Given the description of an element on the screen output the (x, y) to click on. 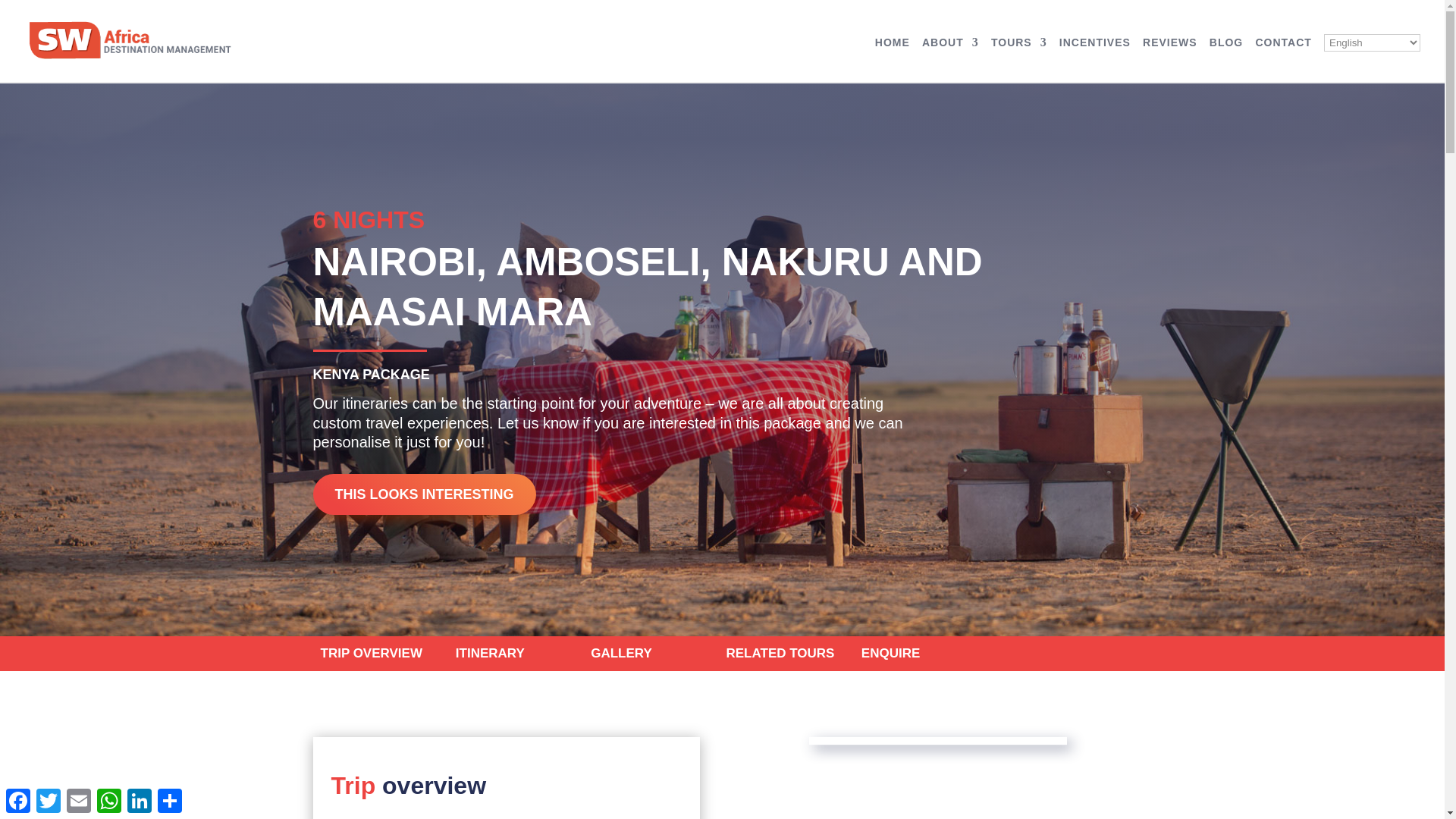
INCENTIVES (1095, 58)
ABOUT (949, 58)
CONTACT (1283, 58)
REVIEWS (1169, 58)
TOURS (1018, 58)
